Given the description of an element on the screen output the (x, y) to click on. 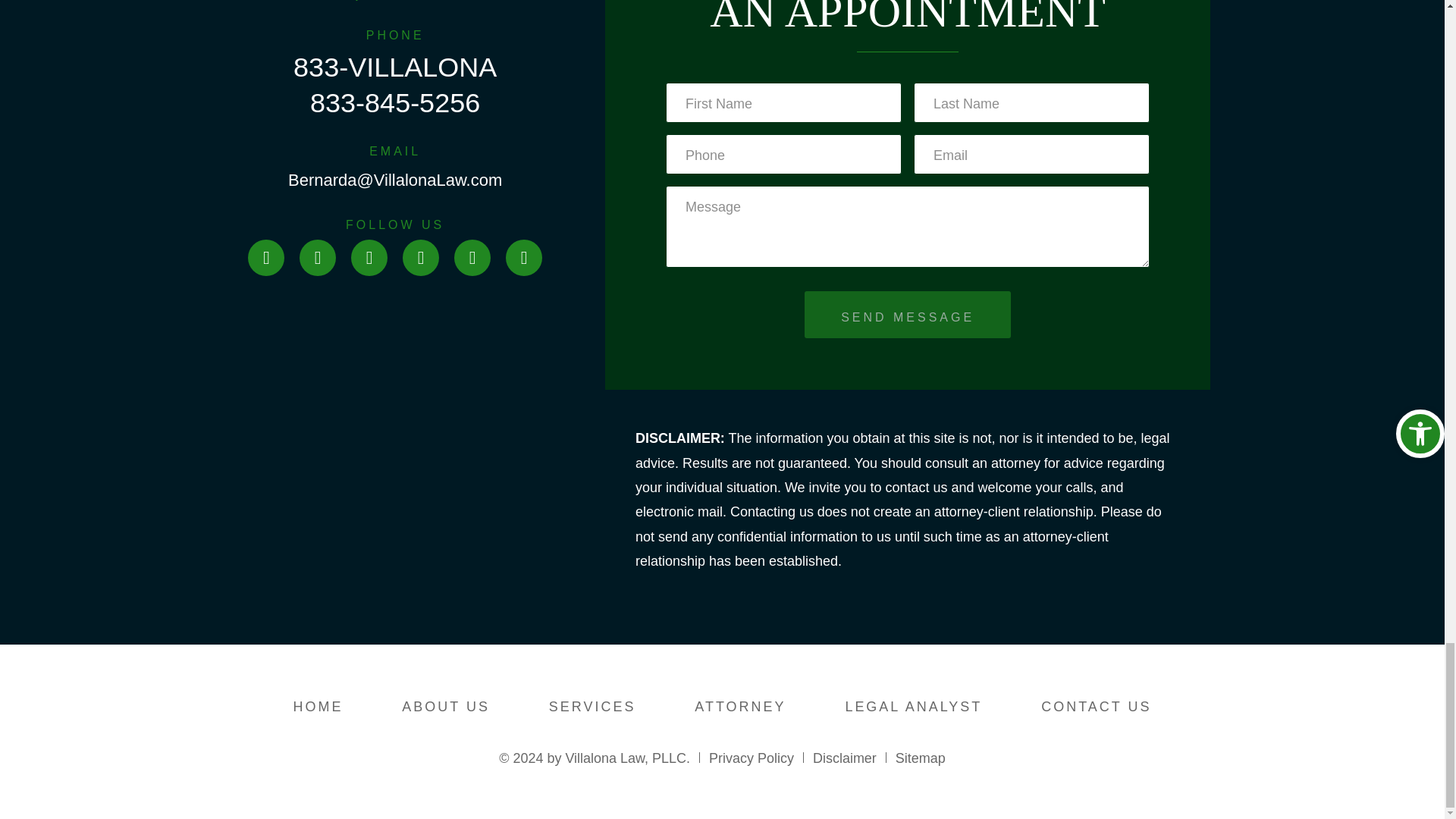
Send Message (907, 314)
833-845-5256 (395, 101)
833-VILLALONA (395, 66)
Send Message (907, 314)
HOME (318, 706)
